Given the description of an element on the screen output the (x, y) to click on. 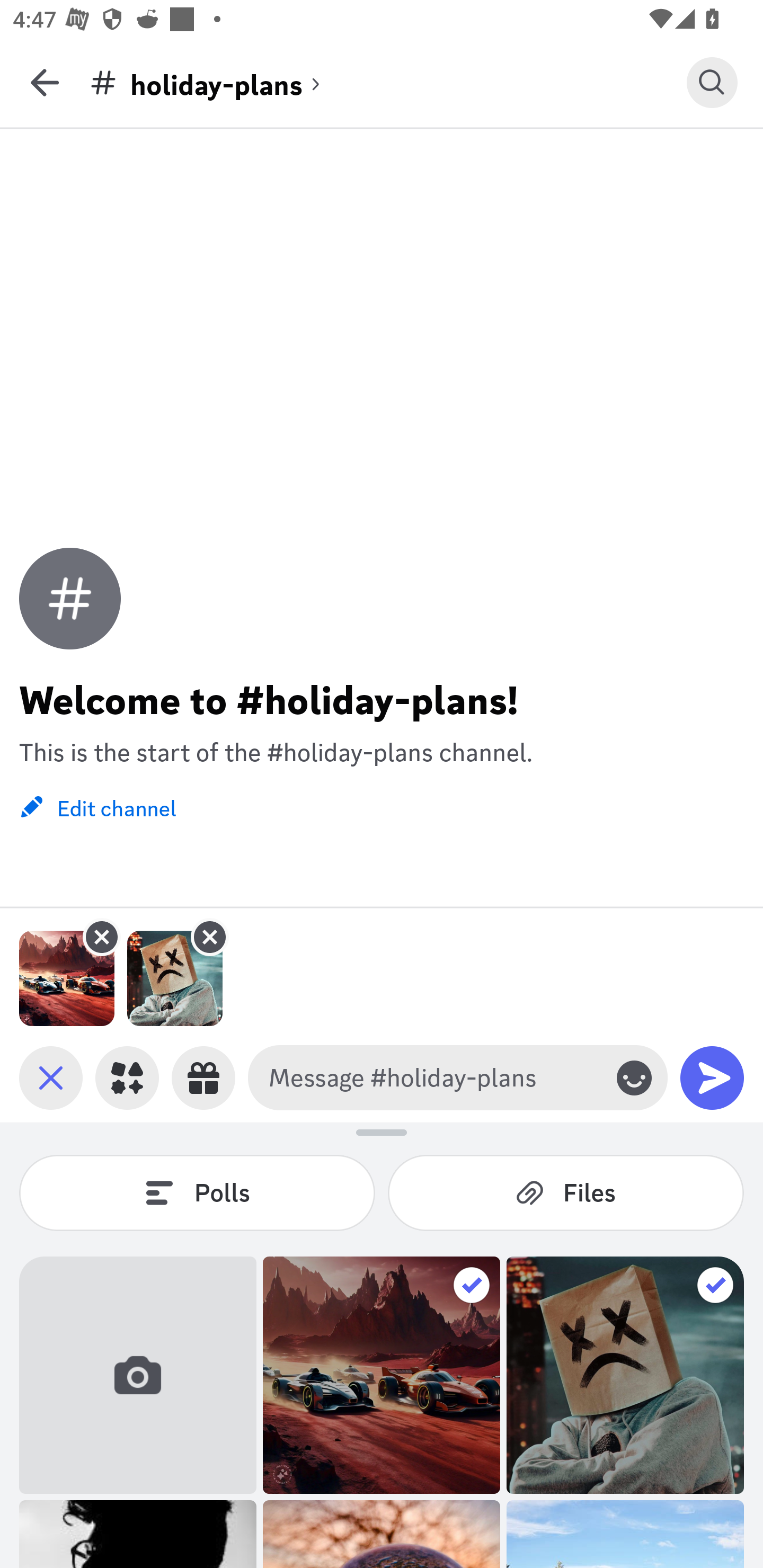
Back (44, 82)
Search (711, 82)
Edit channel (97, 806)
Message Attachment, IMG-20240508-WA0000.jpg (66, 978)
Message #holiday-plans Toggle emoji keyboard (457, 1077)
Toggle media keyboard (50, 1077)
Apps (126, 1077)
Send a gift (203, 1077)
Send (711, 1077)
Toggle emoji keyboard (634, 1077)
Polls (197, 1192)
Files (565, 1192)
Camera (137, 1374)
Photo (381, 1374)
Photo (624, 1374)
